Given the description of an element on the screen output the (x, y) to click on. 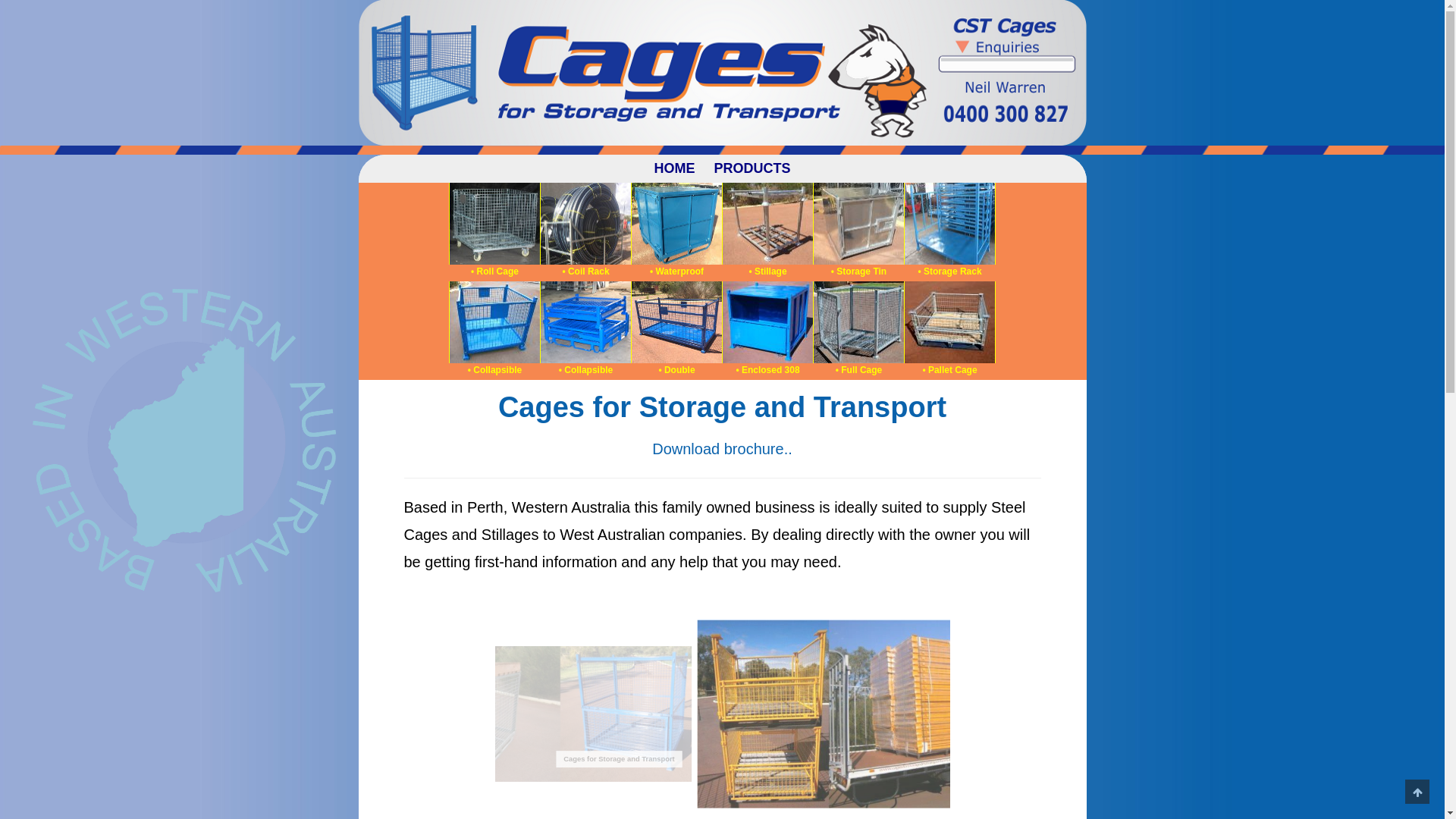
HOME Element type: text (673, 167)
Download brochure.. Element type: text (722, 448)
Storage Rack Element type: hover (948, 223)
Full Cage Element type: hover (857, 322)
Stillage Element type: hover (766, 223)
Enclosed Cage Element type: hover (766, 322)
Poly Coil Rack Element type: hover (584, 223)
Waterproof Cage Element type: hover (675, 223)
Storage Tin Element type: hover (857, 223)
Roll Cage Element type: hover (493, 223)
Pallet Cage Element type: hover (948, 322)
PRODUCTS Element type: text (752, 167)
Collapsible Cage Element type: hover (584, 322)
Collapsible Cage Element type: hover (493, 322)
Collapsible Cage Element type: hover (675, 322)
